Given the description of an element on the screen output the (x, y) to click on. 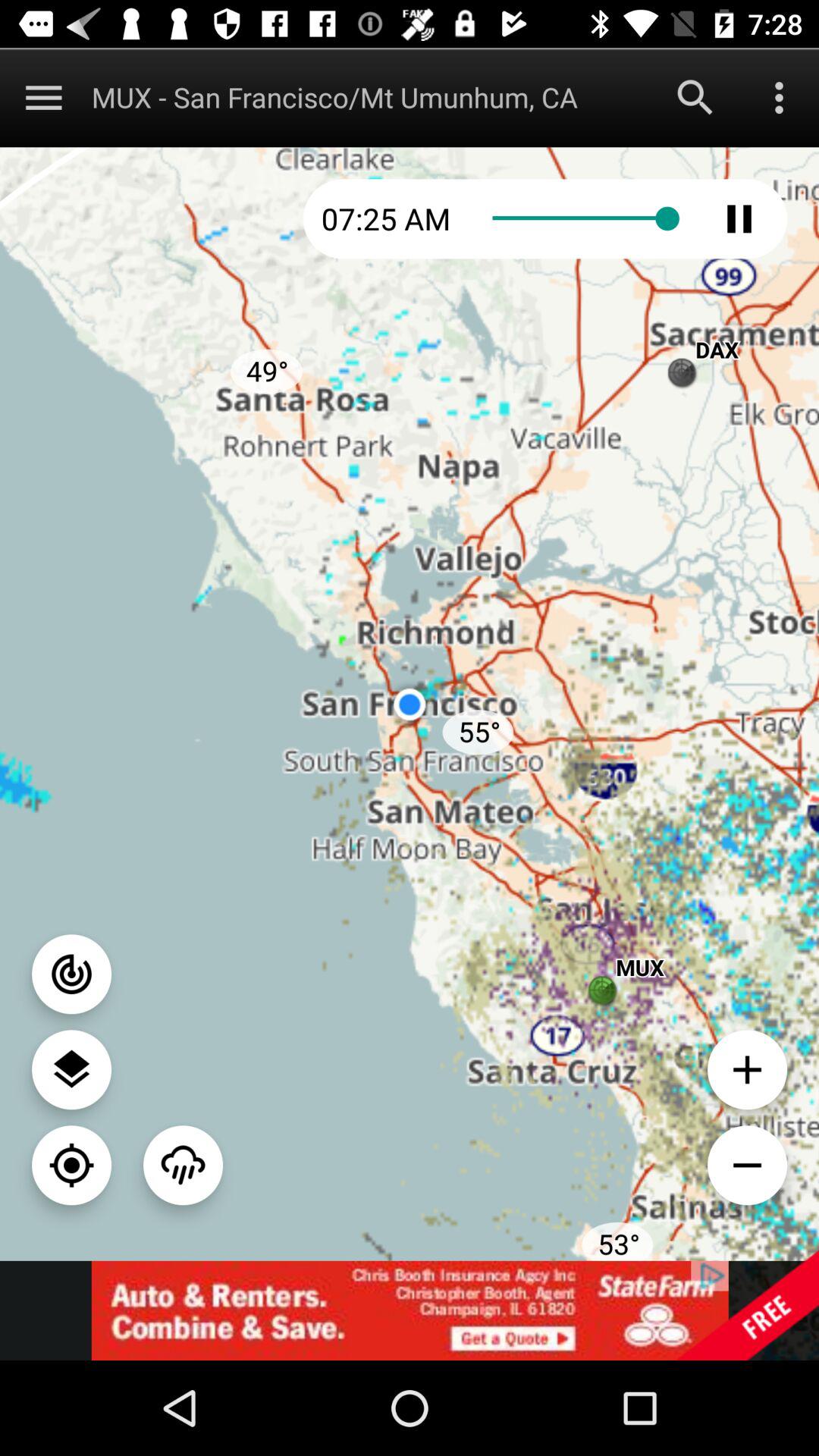
display menu (43, 97)
